Given the description of an element on the screen output the (x, y) to click on. 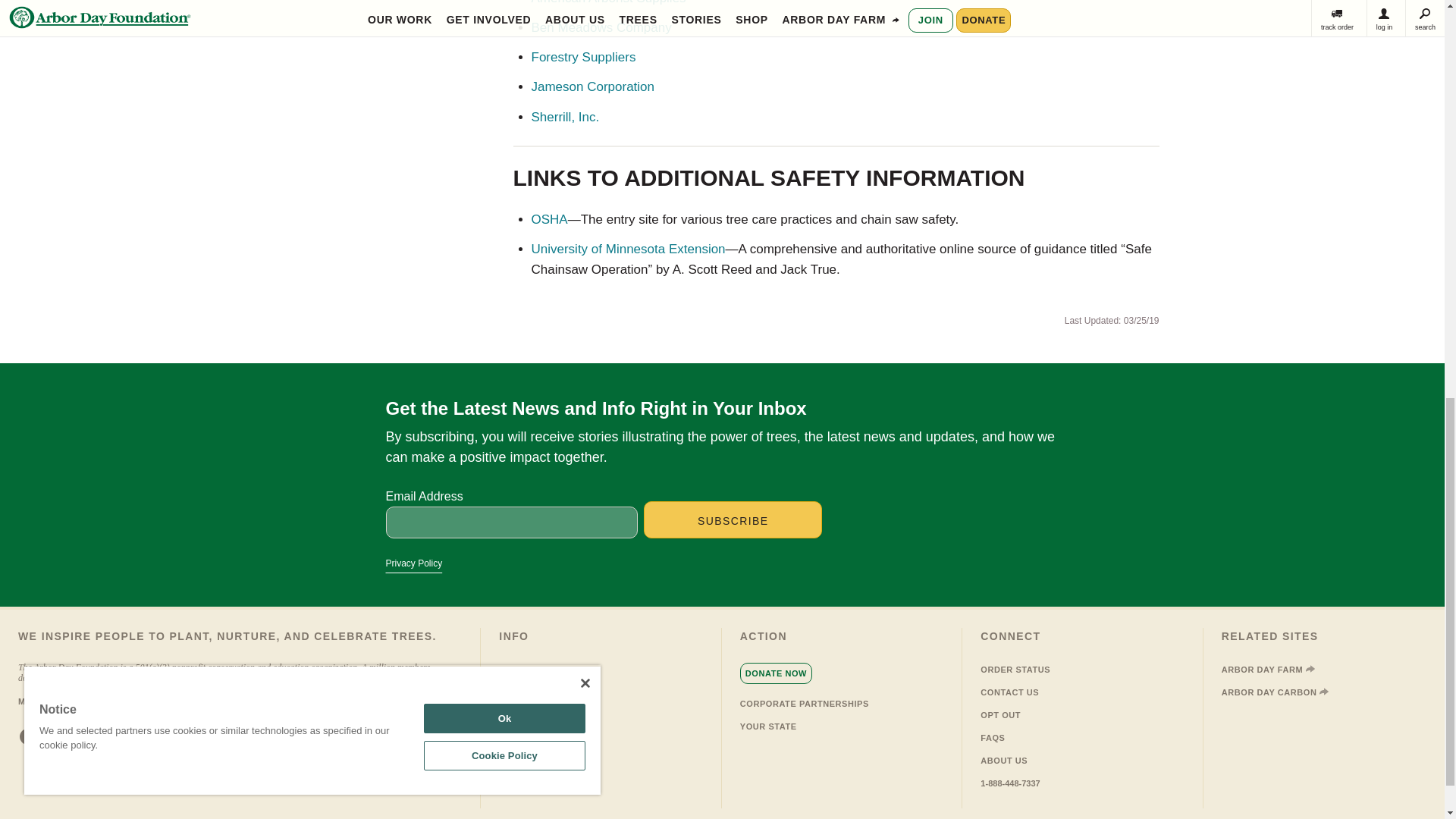
Forestry Suppliers (582, 56)
American Arborist Supplies (608, 2)
Ben Meadows Company (601, 27)
Sherrill, Inc. (564, 116)
Subscribe (732, 519)
Jameson Corporation (592, 86)
